Given the description of an element on the screen output the (x, y) to click on. 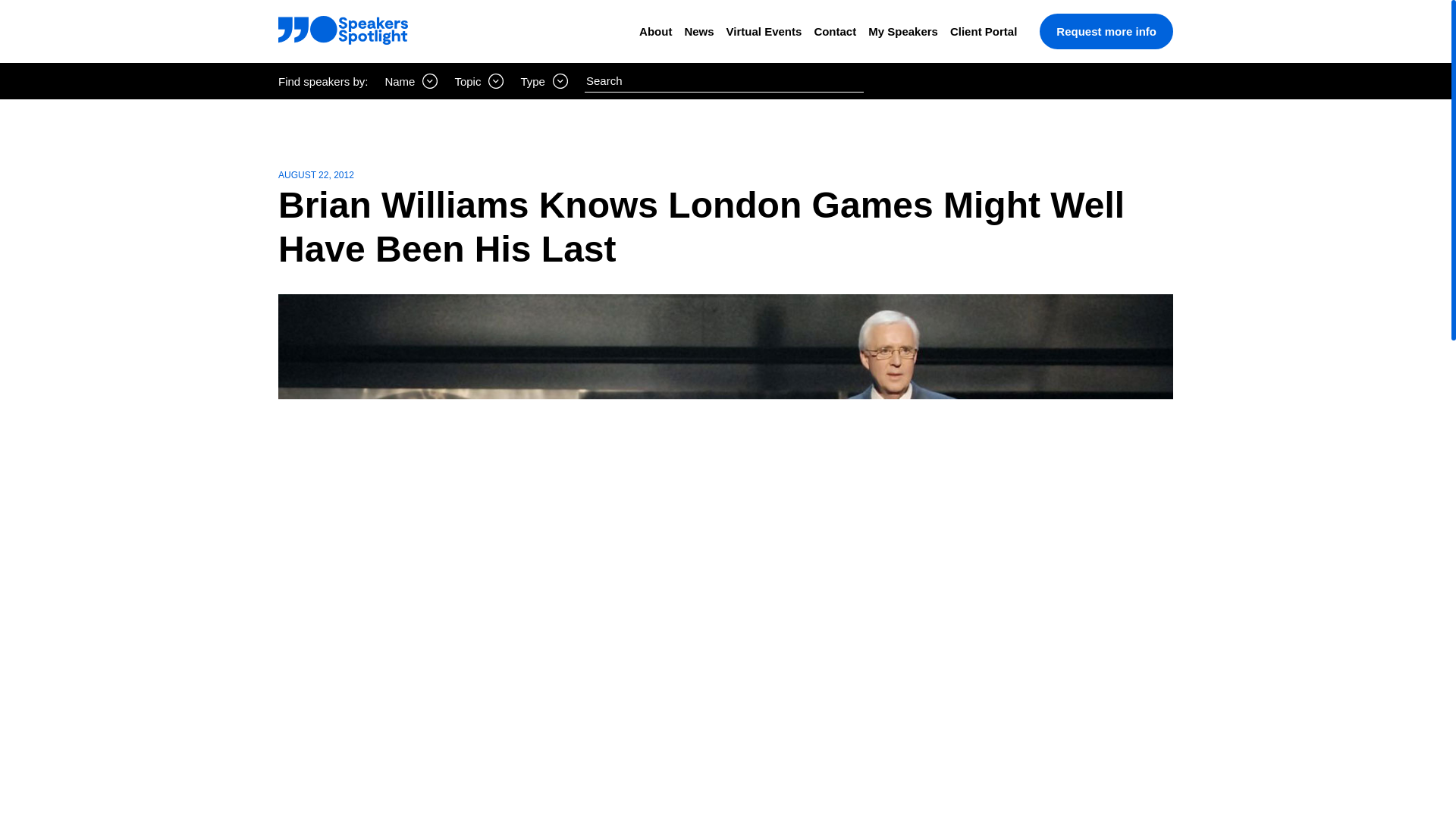
Name (411, 80)
Virtual Events (764, 31)
My Speakers (902, 31)
About (655, 31)
Contact (834, 31)
Client Portal (983, 31)
Request more info (1106, 31)
